Given the description of an element on the screen output the (x, y) to click on. 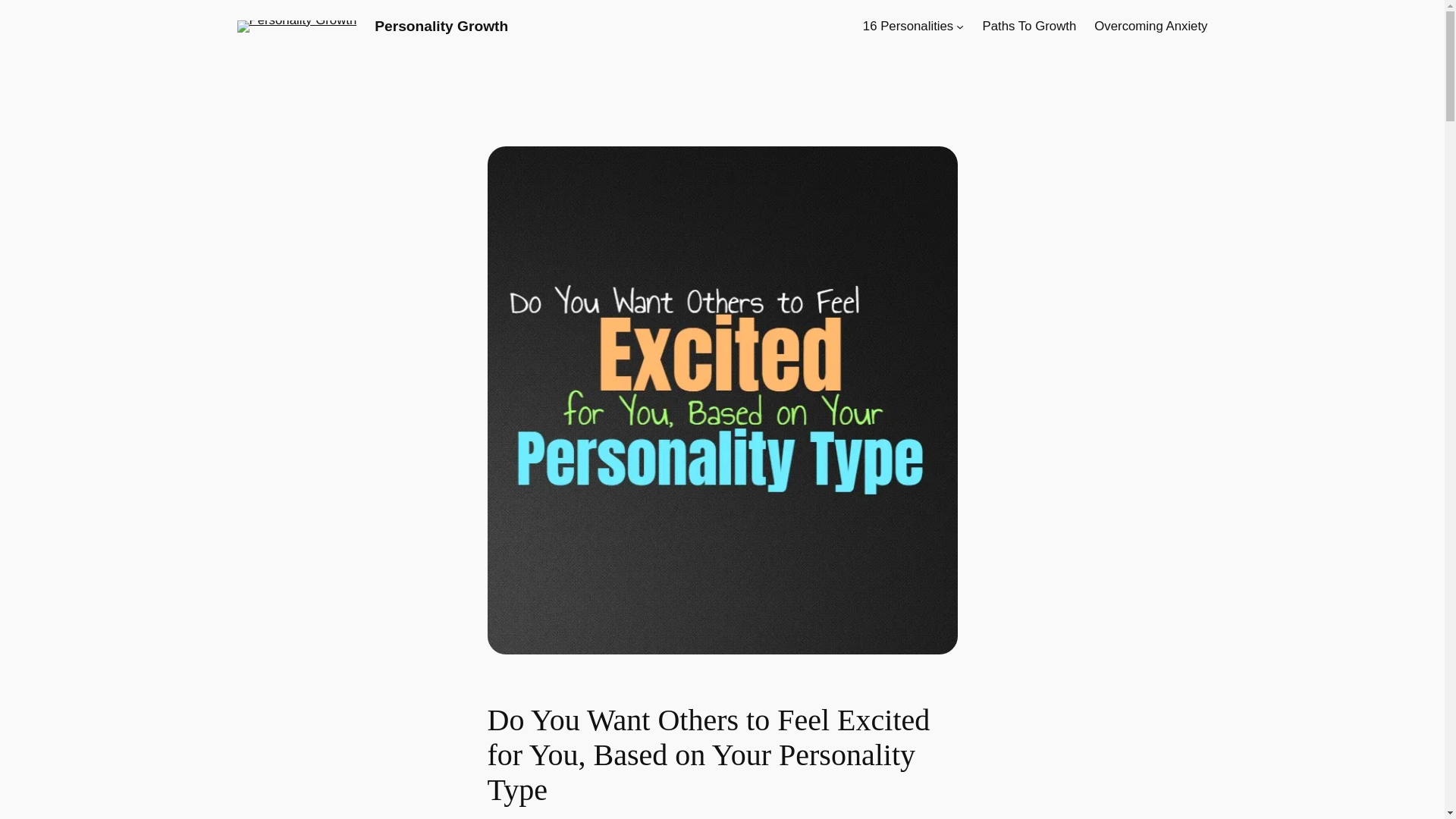
Paths To Growth (1029, 26)
16 Personalities (908, 26)
Personality Growth (441, 26)
Overcoming Anxiety (1150, 26)
